Given the description of an element on the screen output the (x, y) to click on. 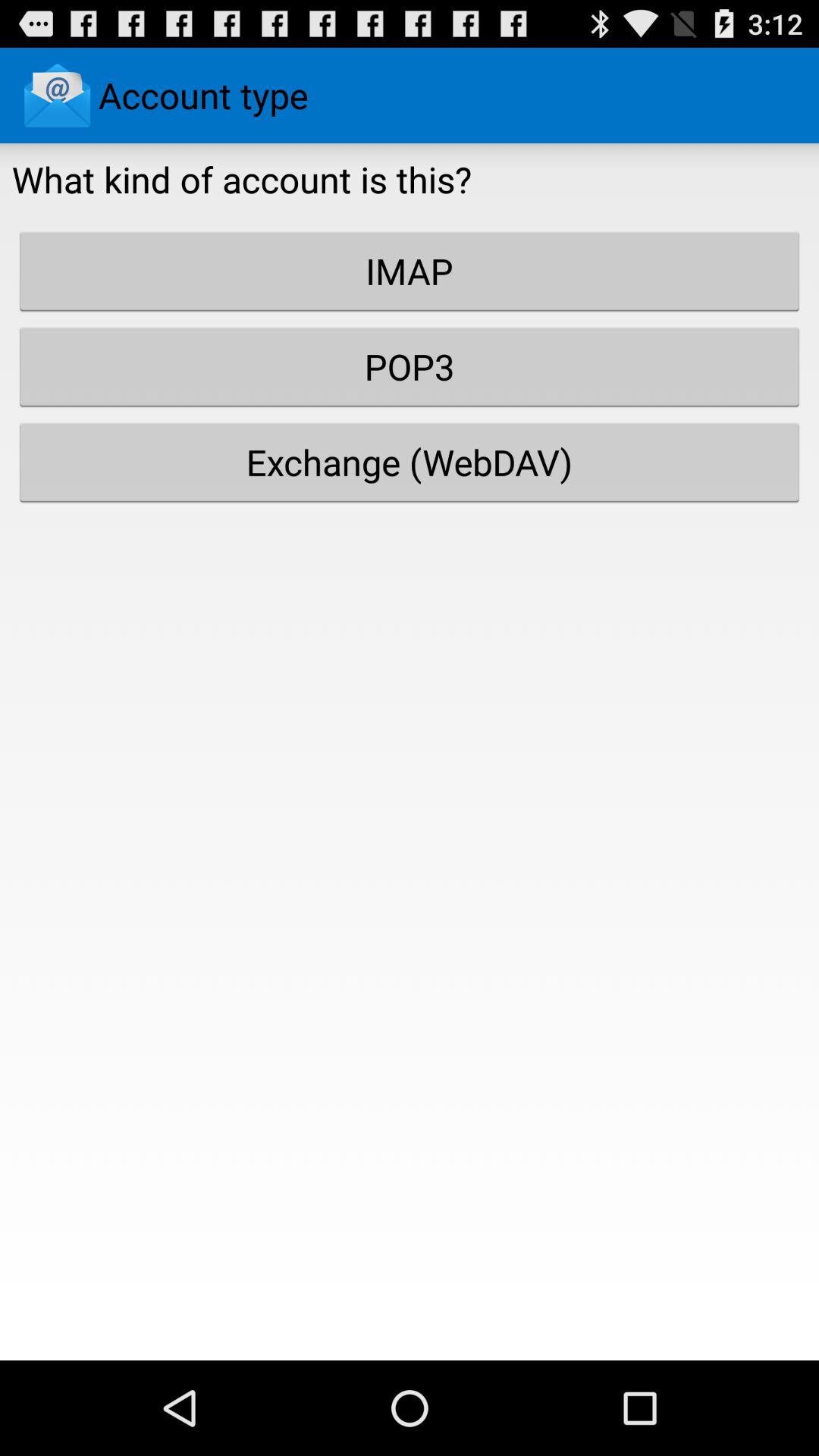
press the exchange (webdav) (409, 462)
